Given the description of an element on the screen output the (x, y) to click on. 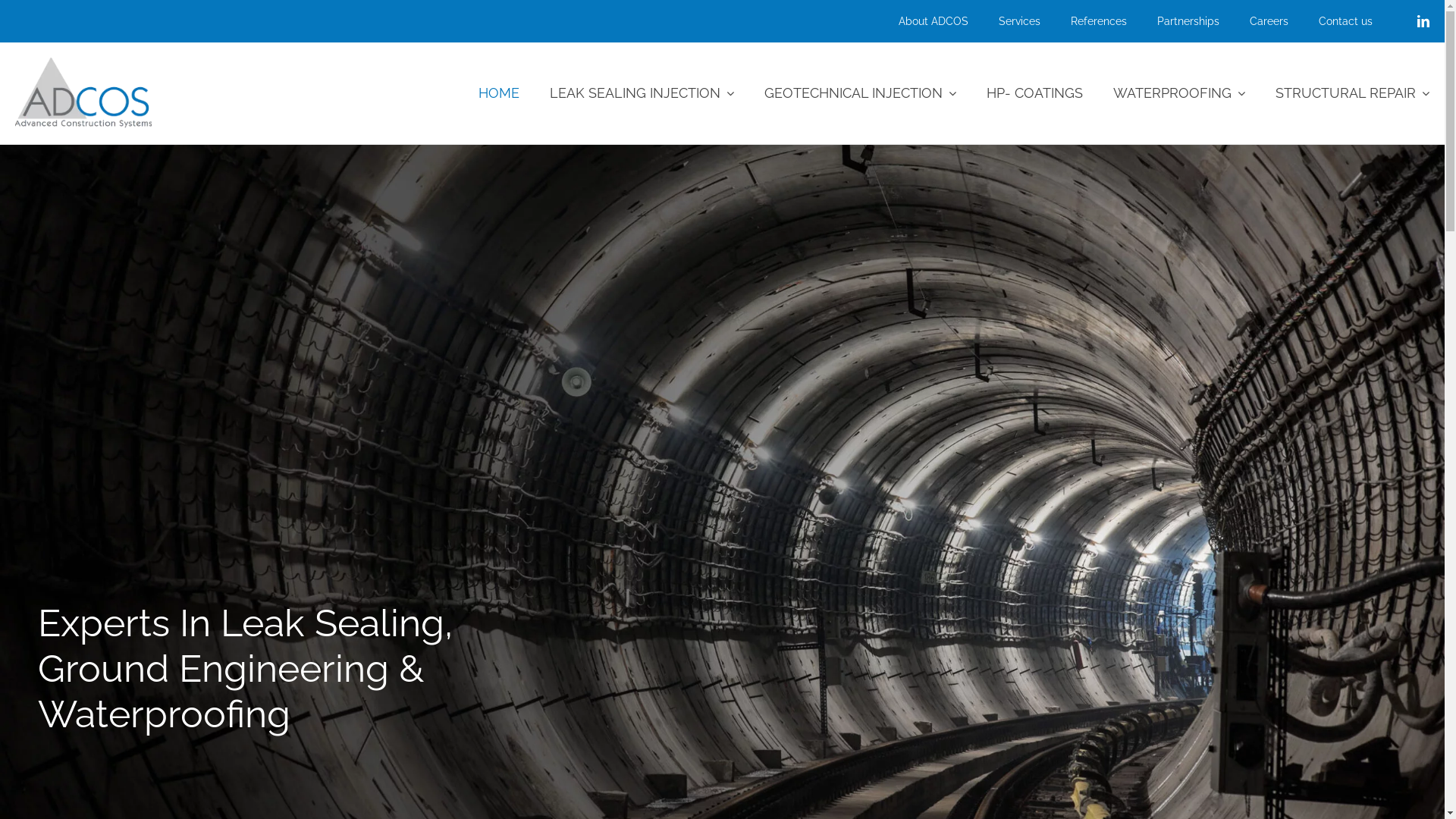
About ADCOS Element type: text (918, 21)
LEAK SEALING INJECTION Element type: text (626, 93)
STRUCTURAL REPAIR Element type: text (1337, 93)
HP- COATINGS Element type: text (1019, 93)
HOME Element type: text (483, 93)
WATERPROOFING Element type: text (1163, 93)
logo Element type: hover (83, 92)
Partnerships Element type: text (1172, 21)
Careers Element type: text (1253, 21)
Services Element type: text (1004, 21)
LinkedIn Element type: hover (1423, 21)
GEOTECHNICAL INJECTION Element type: text (845, 93)
Contact us Element type: text (1330, 21)
References Element type: text (1083, 21)
